Given the description of an element on the screen output the (x, y) to click on. 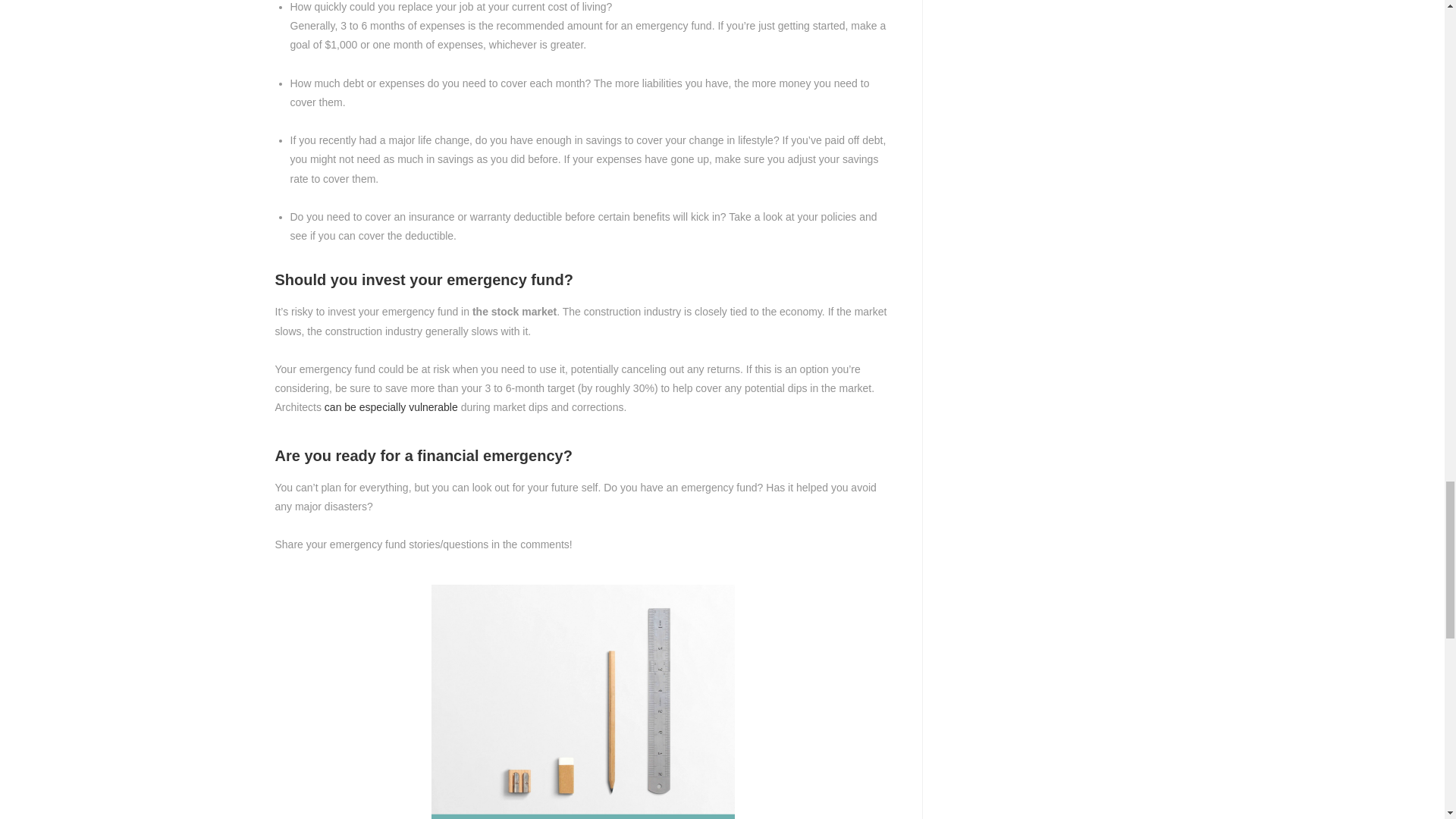
savings (582, 701)
can be especially vulnerable (391, 407)
